Given the description of an element on the screen output the (x, y) to click on. 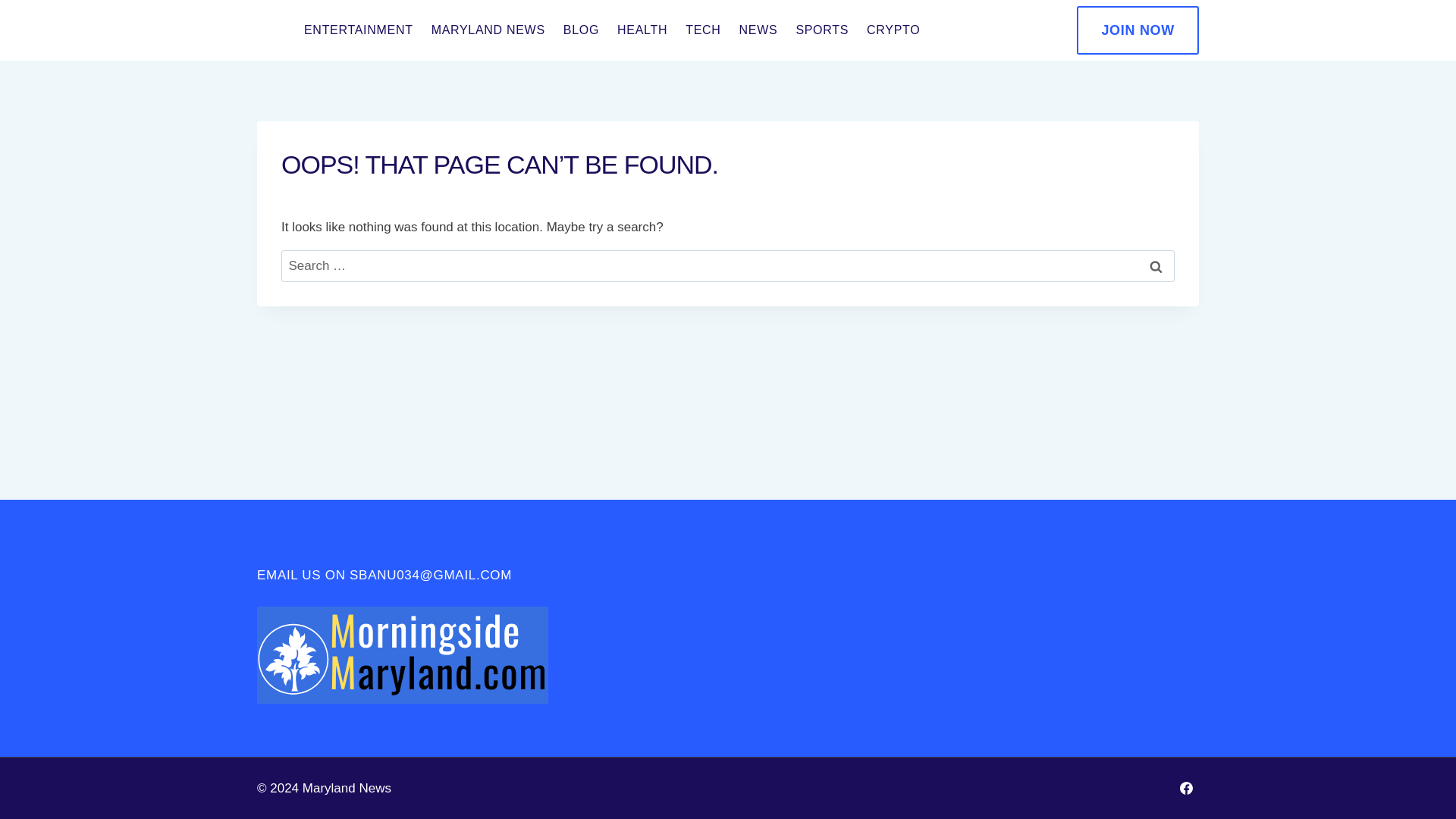
MARYLAND NEWS (488, 30)
BLOG (581, 30)
Search (1155, 266)
Search (1155, 266)
Search (1155, 266)
HEALTH (642, 30)
NEWS (758, 30)
JOIN NOW (1137, 30)
TECH (703, 30)
CRYPTO (892, 30)
SPORTS (821, 30)
ENTERTAINMENT (358, 30)
